Given the description of an element on the screen output the (x, y) to click on. 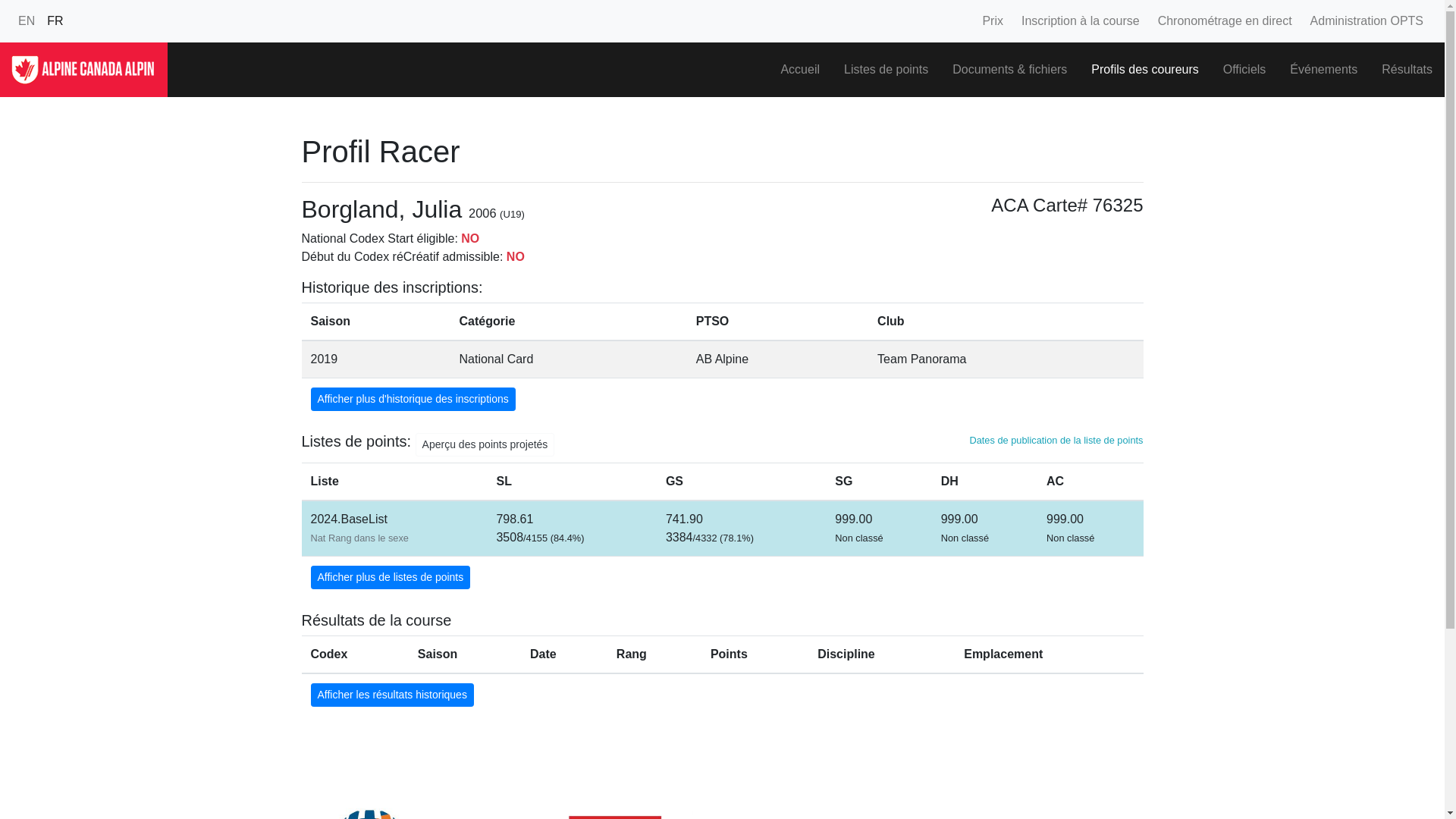
Documents & fichiers Element type: text (1009, 69)
Administration OPTS Element type: text (1366, 21)
FR Element type: text (54, 21)
EN Element type: text (26, 21)
Dates de publication de la liste de points Element type: text (1055, 439)
Afficher plus d'historique des inscriptions Element type: text (412, 399)
Officiels Element type: text (1244, 69)
Prix Element type: text (992, 21)
Listes de points Element type: text (885, 69)
Accueil Element type: text (799, 69)
Afficher plus de listes de points Element type: text (390, 577)
Profils des coureurs Element type: text (1144, 69)
